Given the description of an element on the screen output the (x, y) to click on. 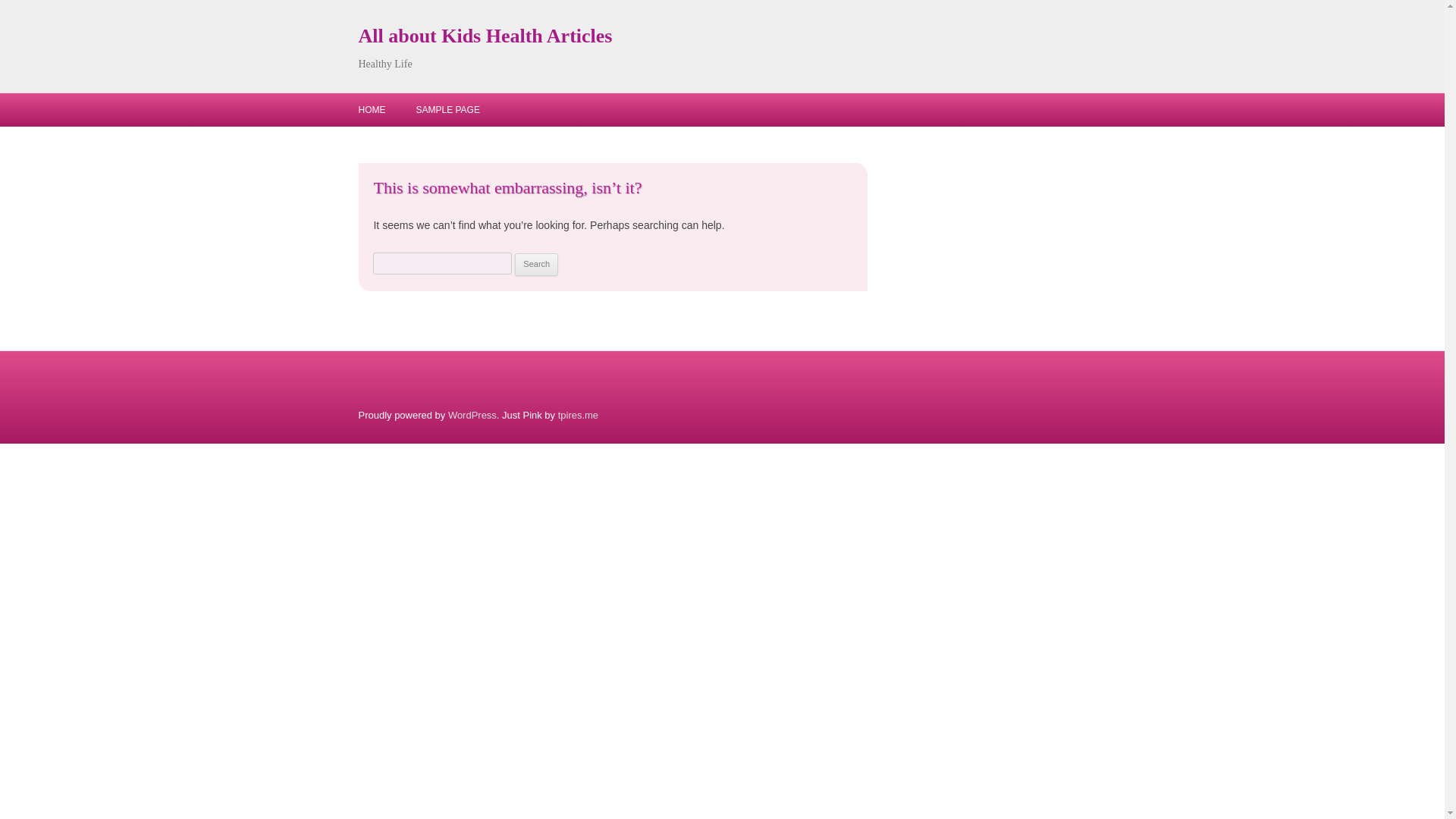
Semantic Personal Publishing Platform (472, 414)
All about Kids Health Articles (484, 36)
Search (536, 264)
WordPress (472, 414)
Search (536, 264)
All about Kids Health Articles (484, 36)
tpires.me (577, 414)
SAMPLE PAGE (446, 109)
